Given the description of an element on the screen output the (x, y) to click on. 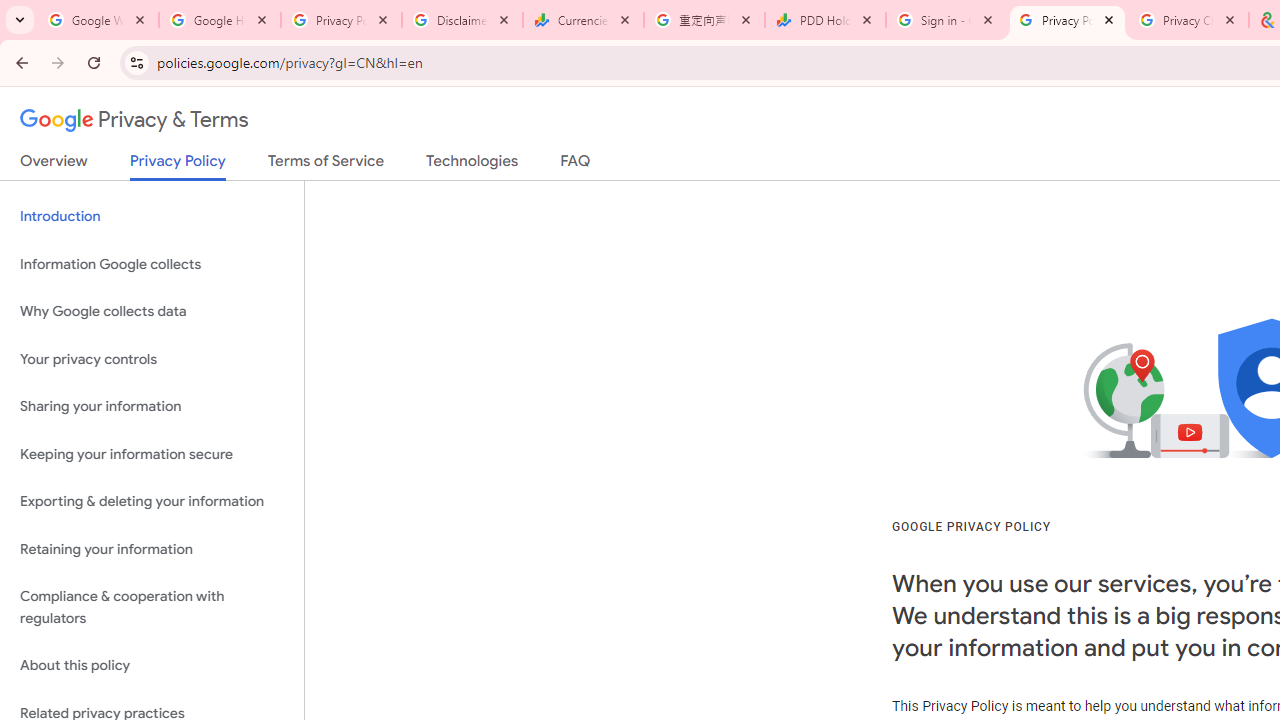
Google Workspace Admin Community (97, 20)
